Given the description of an element on the screen output the (x, y) to click on. 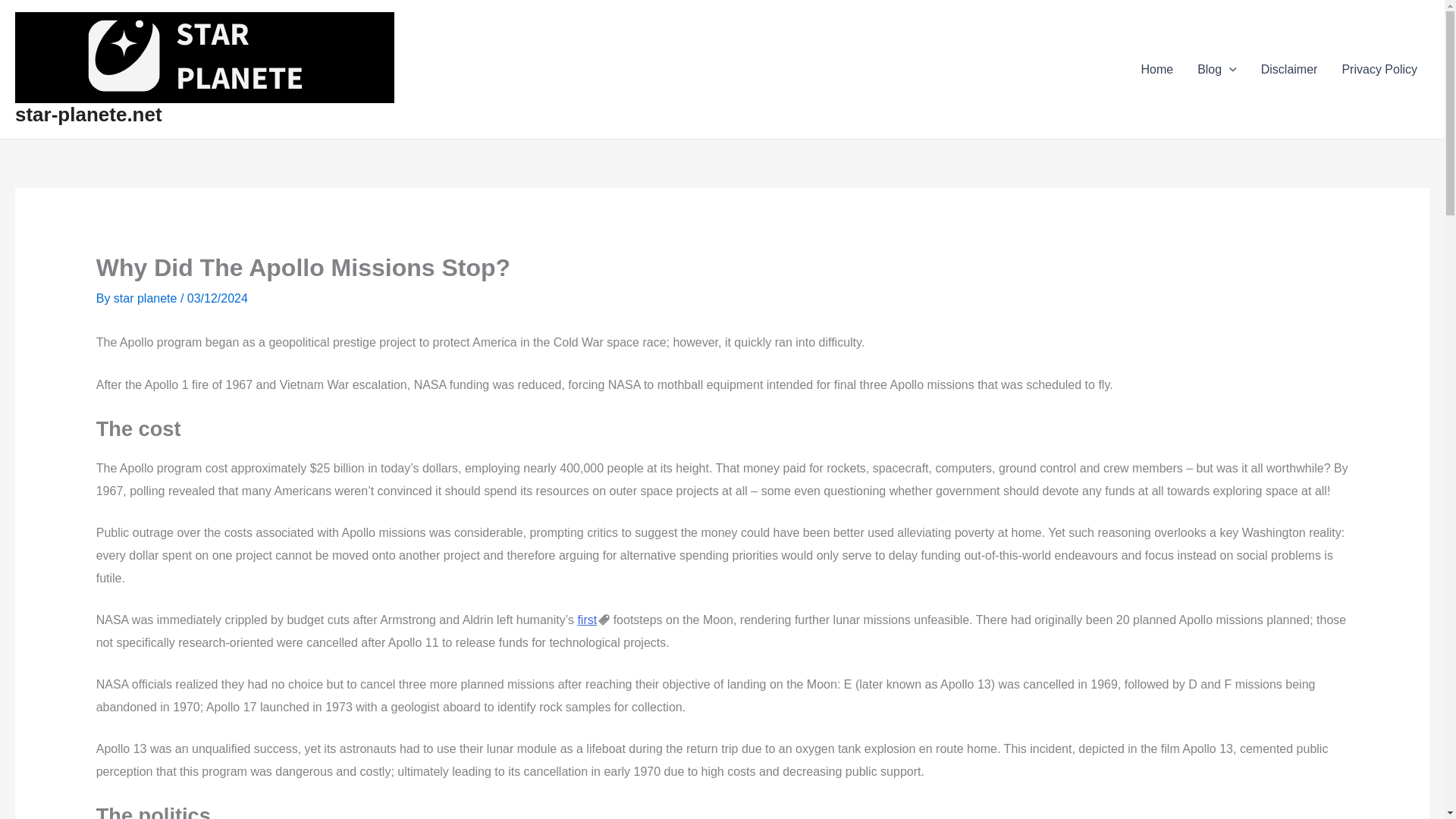
Blog (1217, 69)
Home (1156, 69)
View all posts by star planete (146, 297)
star-planete.net (87, 114)
